Given the description of an element on the screen output the (x, y) to click on. 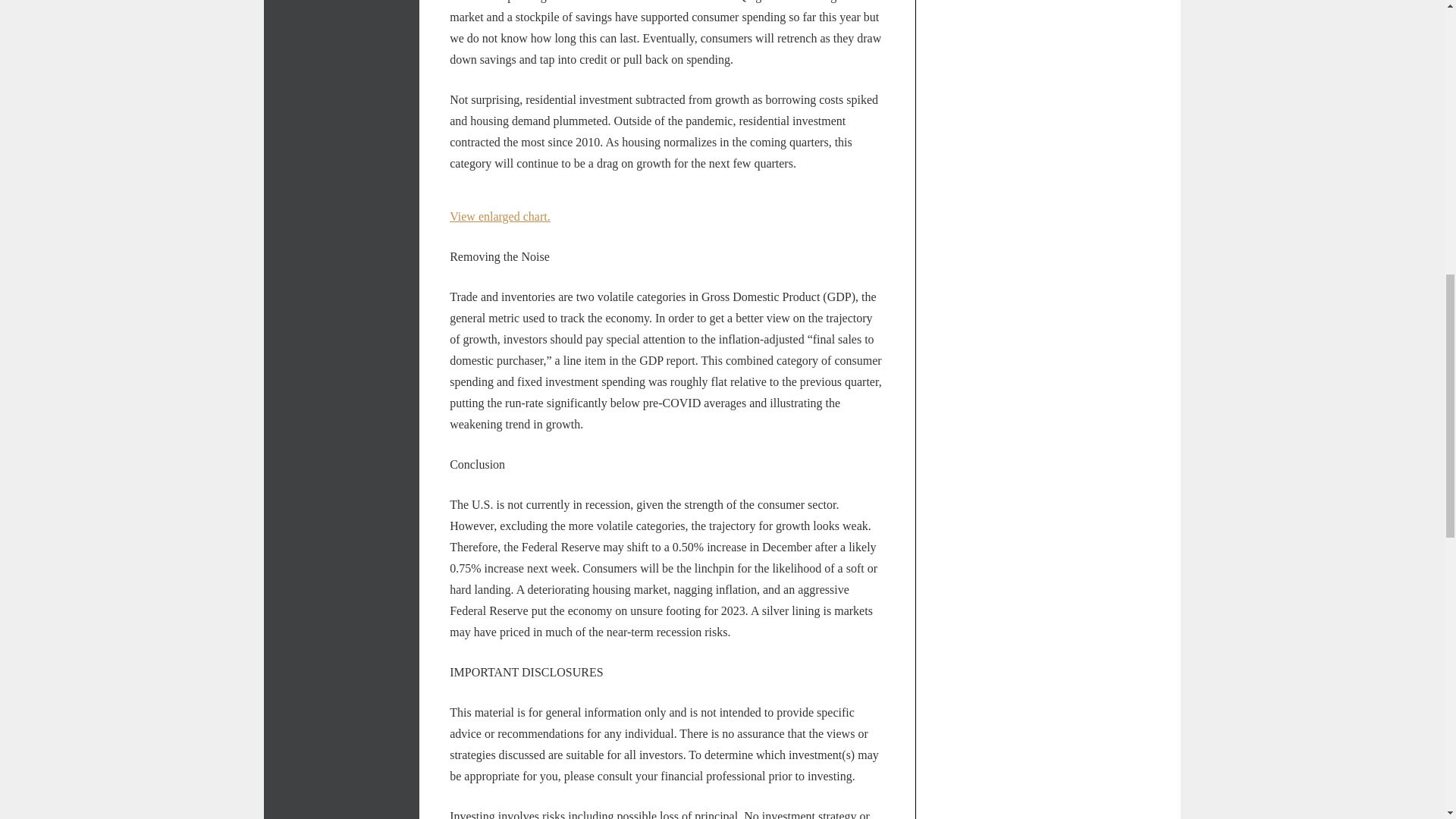
View enlarged chart. (499, 215)
